Given the description of an element on the screen output the (x, y) to click on. 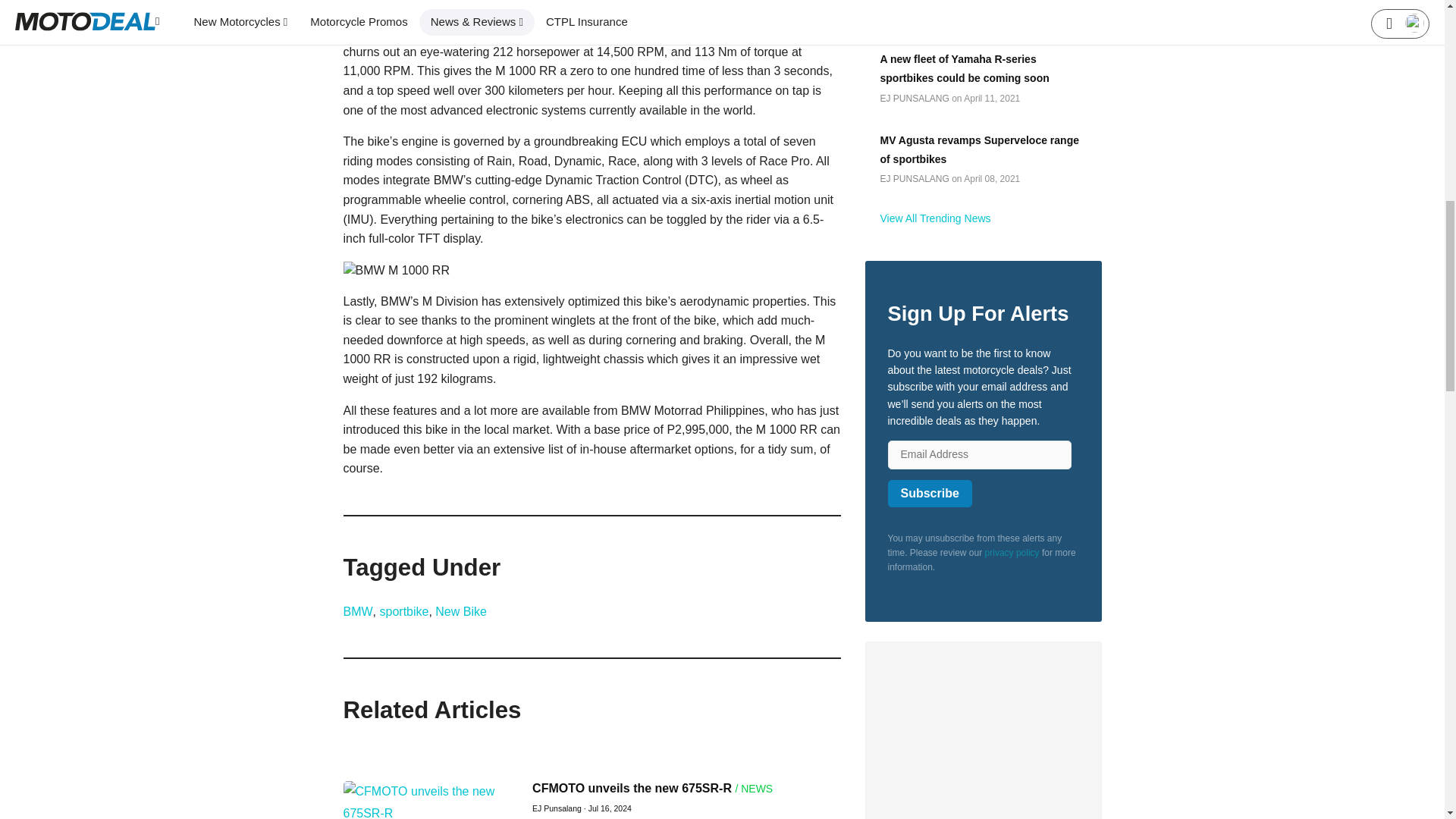
sportbike (403, 611)
New Bike (460, 611)
CFMOTO unveils the new 675SR-R (632, 788)
BMW (357, 611)
